Given the description of an element on the screen output the (x, y) to click on. 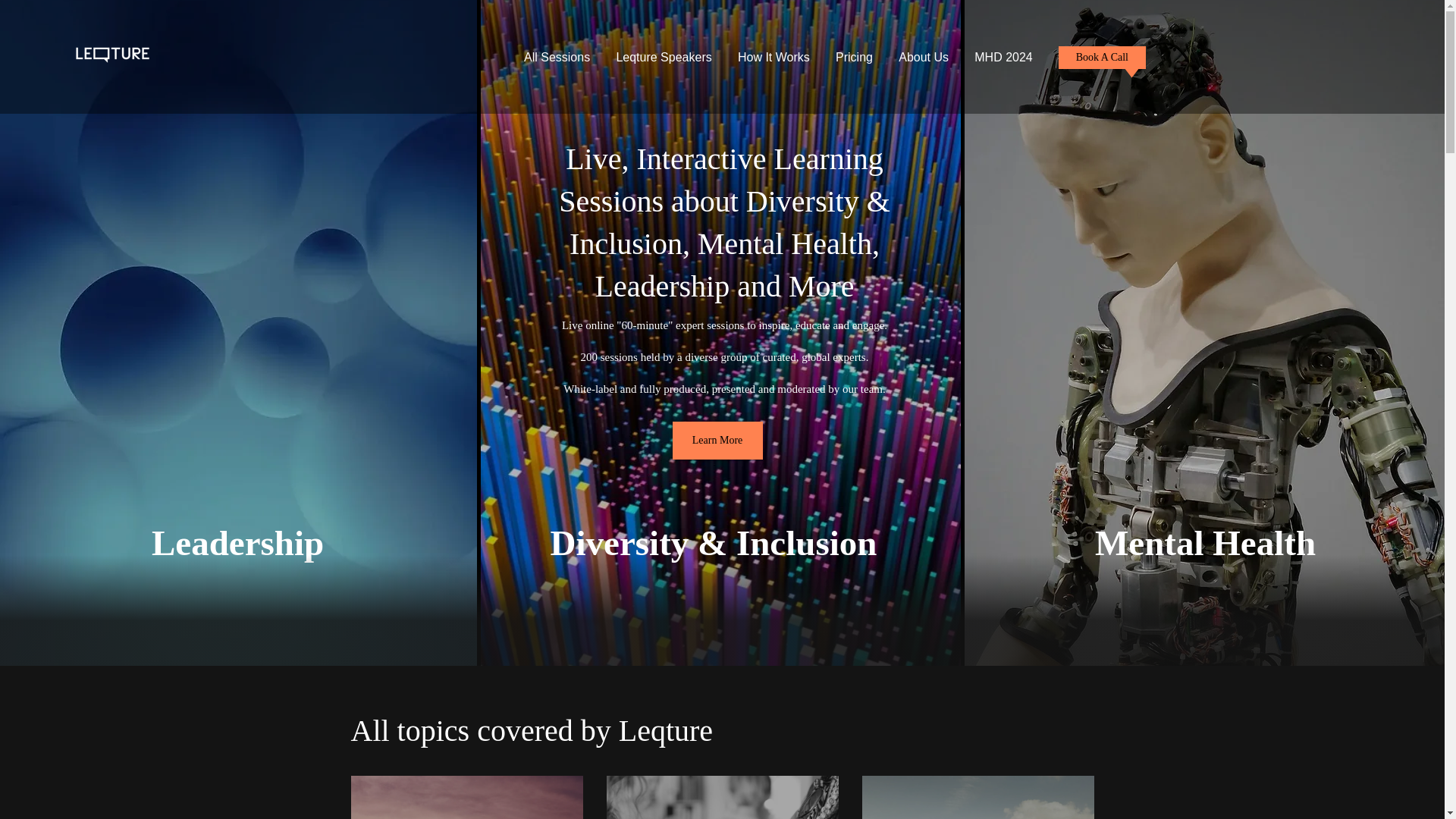
Pricing (853, 58)
About Us (923, 58)
Learn More (717, 440)
Leqture Speakers (663, 58)
Book A Call (1101, 56)
All Sessions (556, 58)
MHD 2024 (1002, 58)
